Given the description of an element on the screen output the (x, y) to click on. 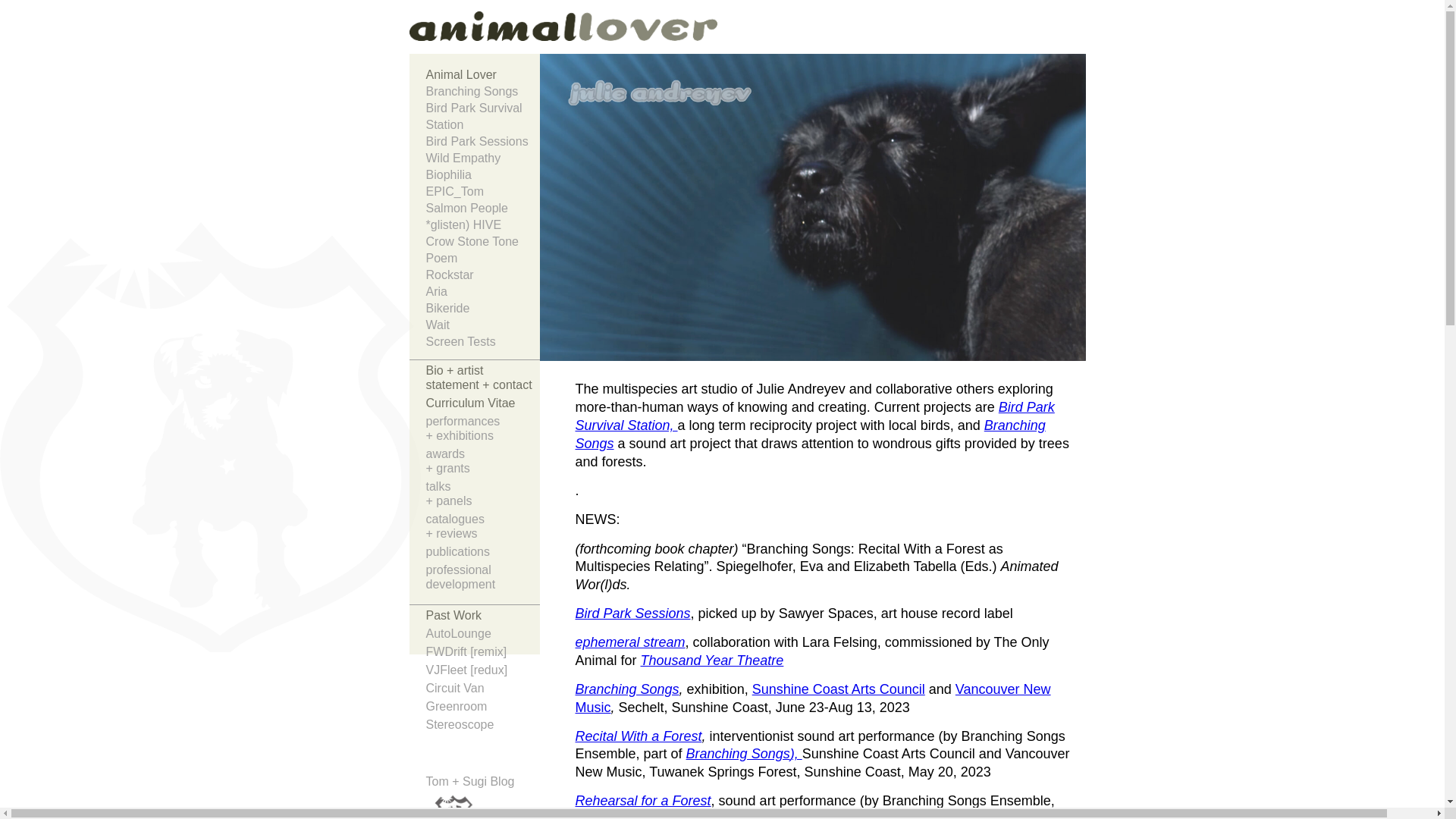
Bio + artist statement + contact Element type: text (482, 379)
Branching Songs Element type: text (626, 688)
Screen Tests Element type: text (482, 341)
professional
development Element type: text (482, 578)
Rockstar Element type: text (482, 274)
Animal Lover Element type: text (482, 74)
Bikeride Element type: text (482, 308)
Curriculum Vitae Element type: text (482, 404)
Vancouver New Music Element type: text (812, 697)
publications Element type: text (482, 553)
Bird Park Sessions Element type: text (632, 613)
Recital With a Forest Element type: text (637, 735)
AutoLounge Element type: text (482, 635)
Wait Element type: text (482, 324)
Rehearsal for a Forest Element type: text (642, 800)
Salmon People Element type: text (482, 208)
*glisten) HIVE Element type: text (482, 224)
Branching Songs Element type: text (809, 434)
Tom + Sugi Blog Element type: text (470, 781)
talks
+ panels Element type: text (482, 495)
Aria Element type: text (482, 291)
Branching Songs Element type: text (738, 753)
Sunshine Coast Arts Council Element type: text (838, 688)
Greenroom Element type: text (482, 708)
Bird Park Sessions Element type: text (482, 141)
Wild Empathy Element type: text (482, 158)
Bird Park Survival Station Element type: text (482, 116)
performances
+ exhibitions Element type: text (482, 430)
Julie Andreyev Element type: text (448, 32)
Circuit Van Element type: text (482, 689)
VJFleet [redux] Element type: text (482, 671)
Stereoscope Element type: text (482, 726)
ephemeral stream Element type: text (629, 641)
FWDrift [remix] Element type: text (482, 653)
Biophilia Element type: text (482, 174)
Crow Stone Tone Poem Element type: text (482, 249)
Thousand Year Theatre Element type: text (712, 660)
Past Work Element type: text (482, 617)
EPIC_Tom Element type: text (482, 191)
awards
+ grants Element type: text (482, 462)
catalogues
+ reviews Element type: text (482, 527)
), Element type: text (796, 753)
Bird Park Survival Station, Element type: text (814, 416)
Branching Songs Element type: text (482, 91)
